Given the description of an element on the screen output the (x, y) to click on. 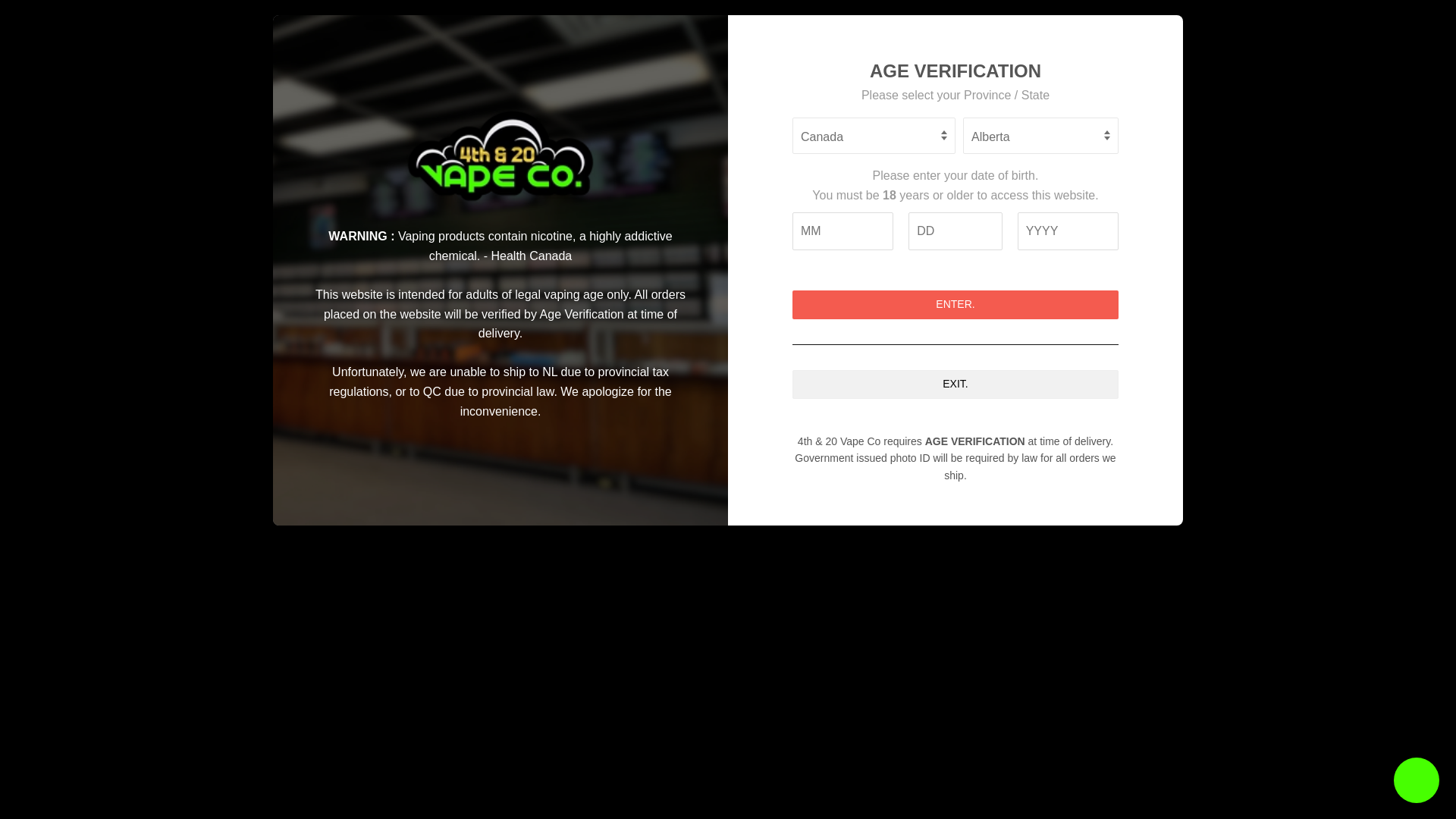
Shopify online store chat (1416, 781)
Sign in (1007, 51)
Search (1005, 88)
Vortex True Blue Iced Freebase Nicotine (879, 665)
Hey Gorgeous Nic Salts True Blue (1005, 699)
1 (698, 470)
CART (1070, 87)
Create an Account (1072, 51)
